Given the description of an element on the screen output the (x, y) to click on. 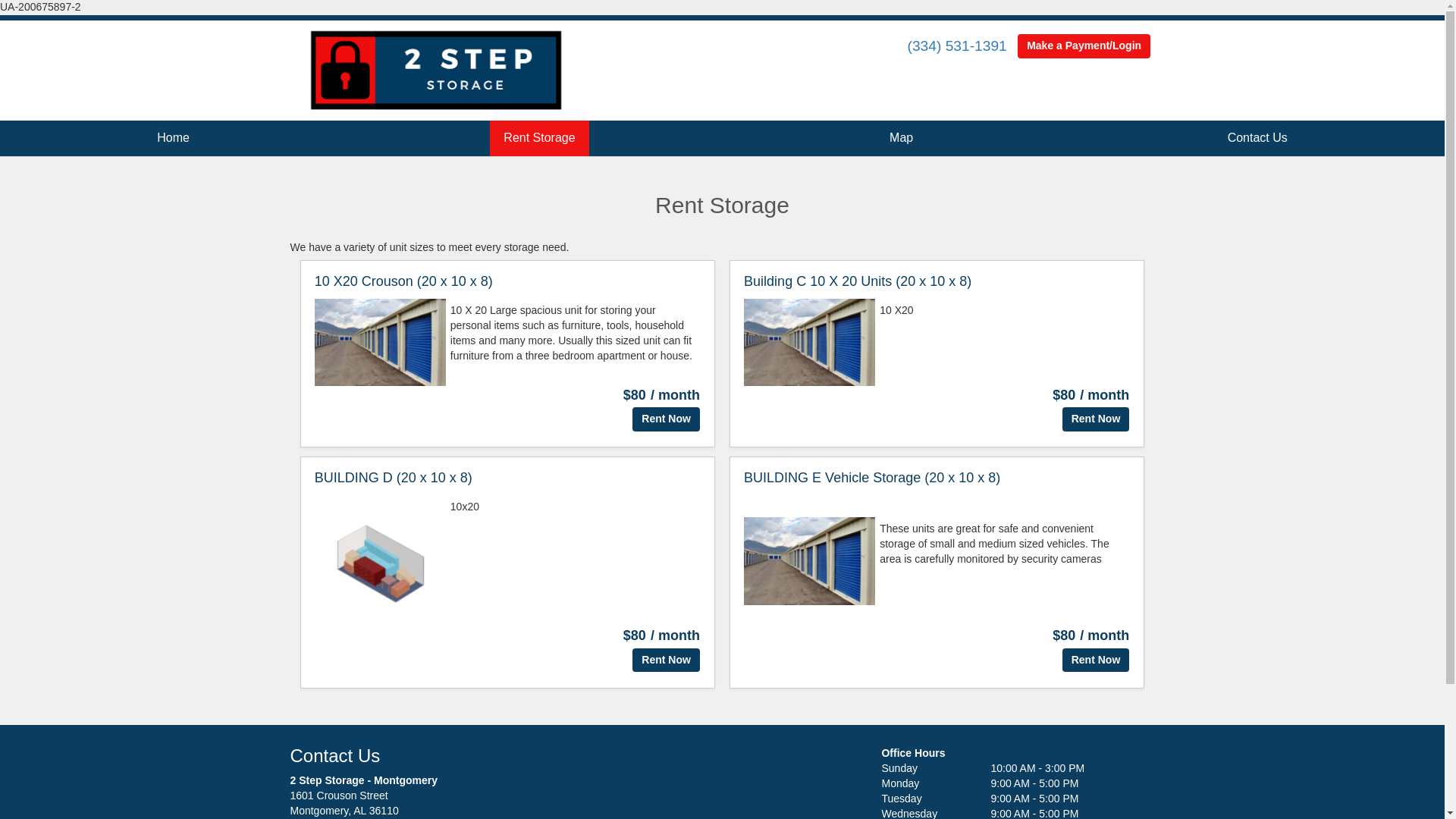
Contact Us Element type: text (1257, 138)
Home Element type: text (173, 138)
(334) 531-1391 Element type: text (957, 45)
Rent Now Element type: text (665, 419)
Rent Now Element type: text (665, 659)
Rent Now Element type: text (1095, 419)
Map Element type: text (900, 138)
Rent Storage Element type: text (538, 138)
Rent Now Element type: text (1095, 659)
Make a Payment/Login Element type: text (1083, 46)
